Given the description of an element on the screen output the (x, y) to click on. 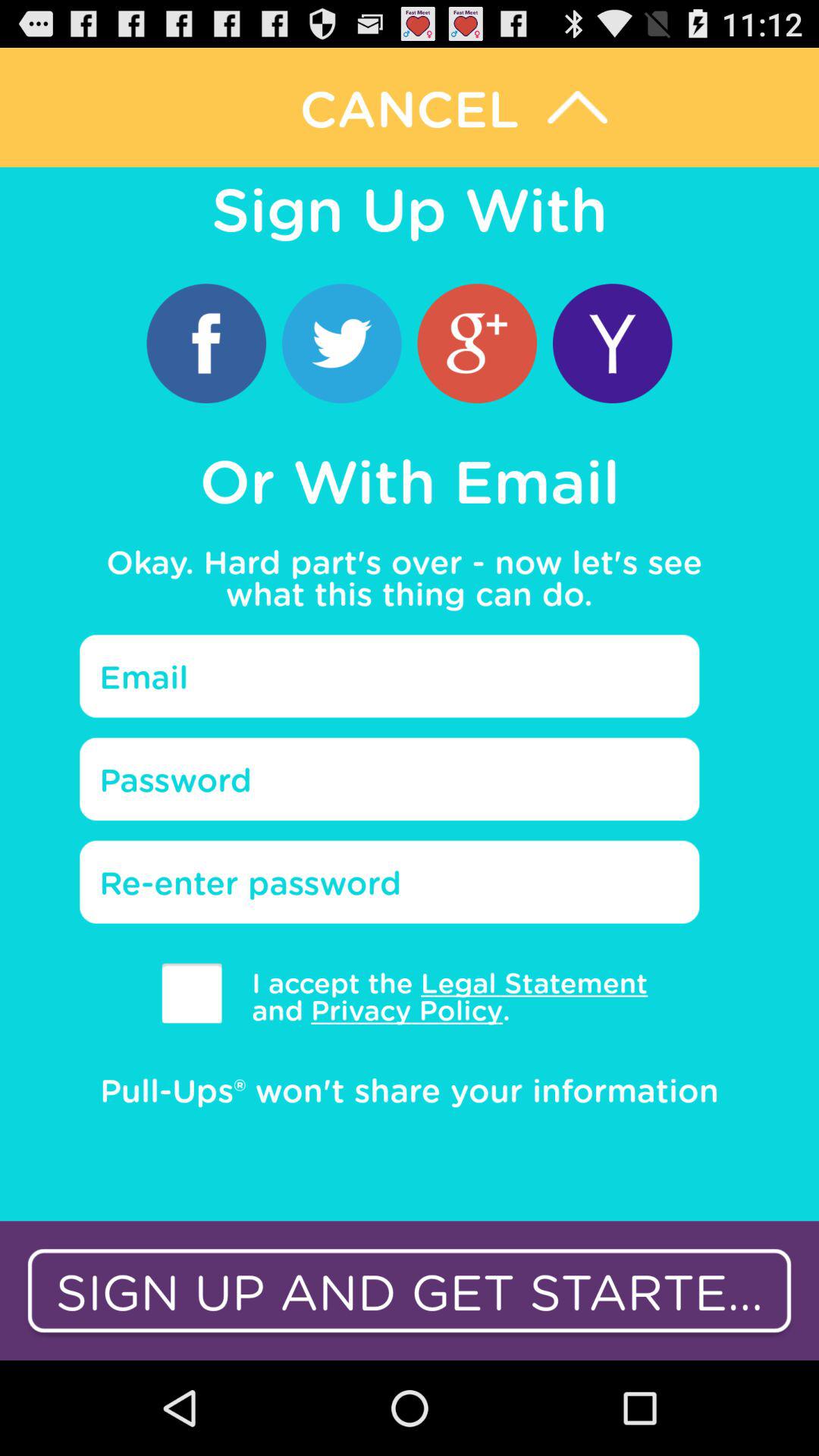
accepting the statement (191, 993)
